Given the description of an element on the screen output the (x, y) to click on. 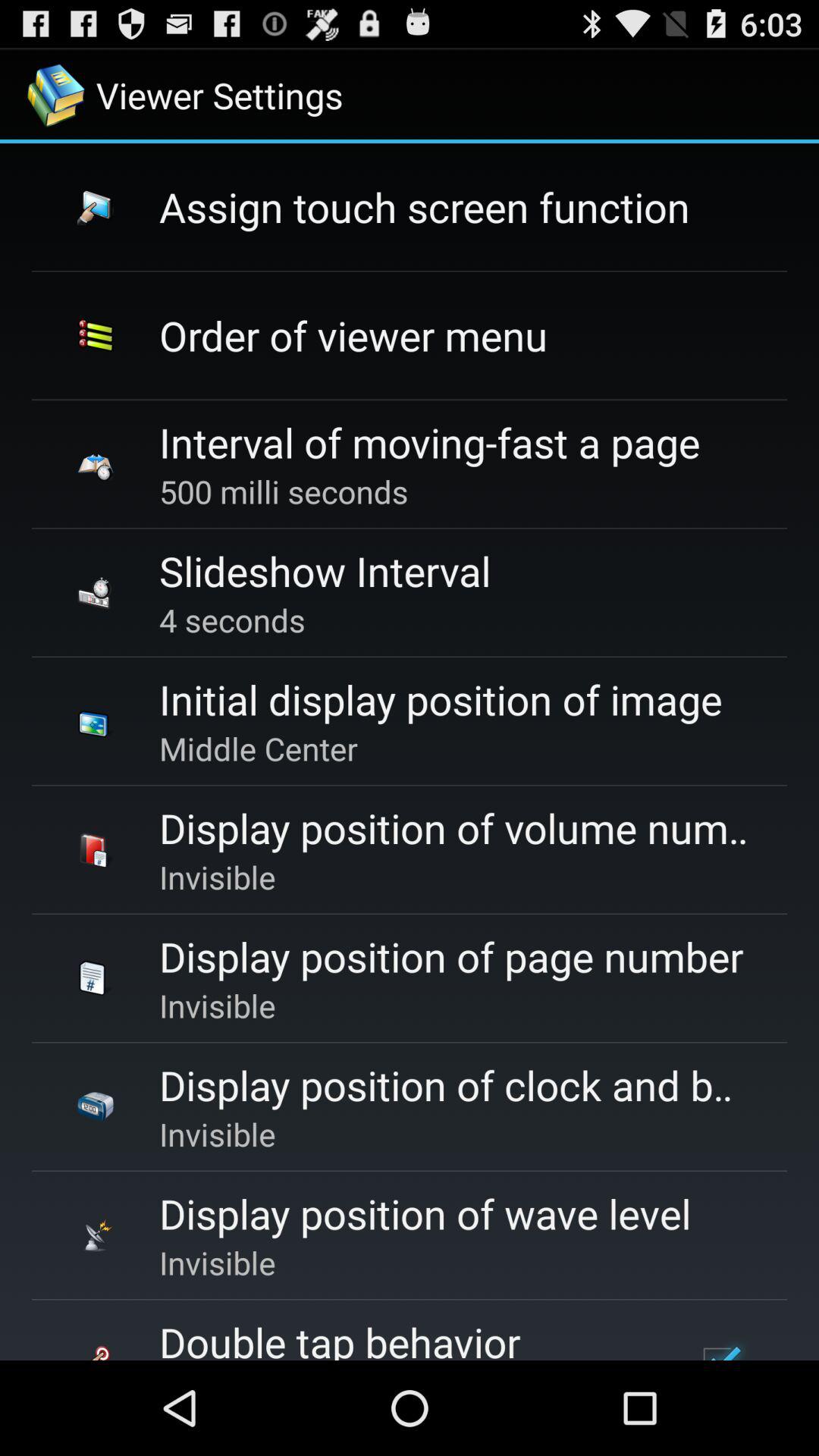
turn on the app below the initial display position item (258, 748)
